Given the description of an element on the screen output the (x, y) to click on. 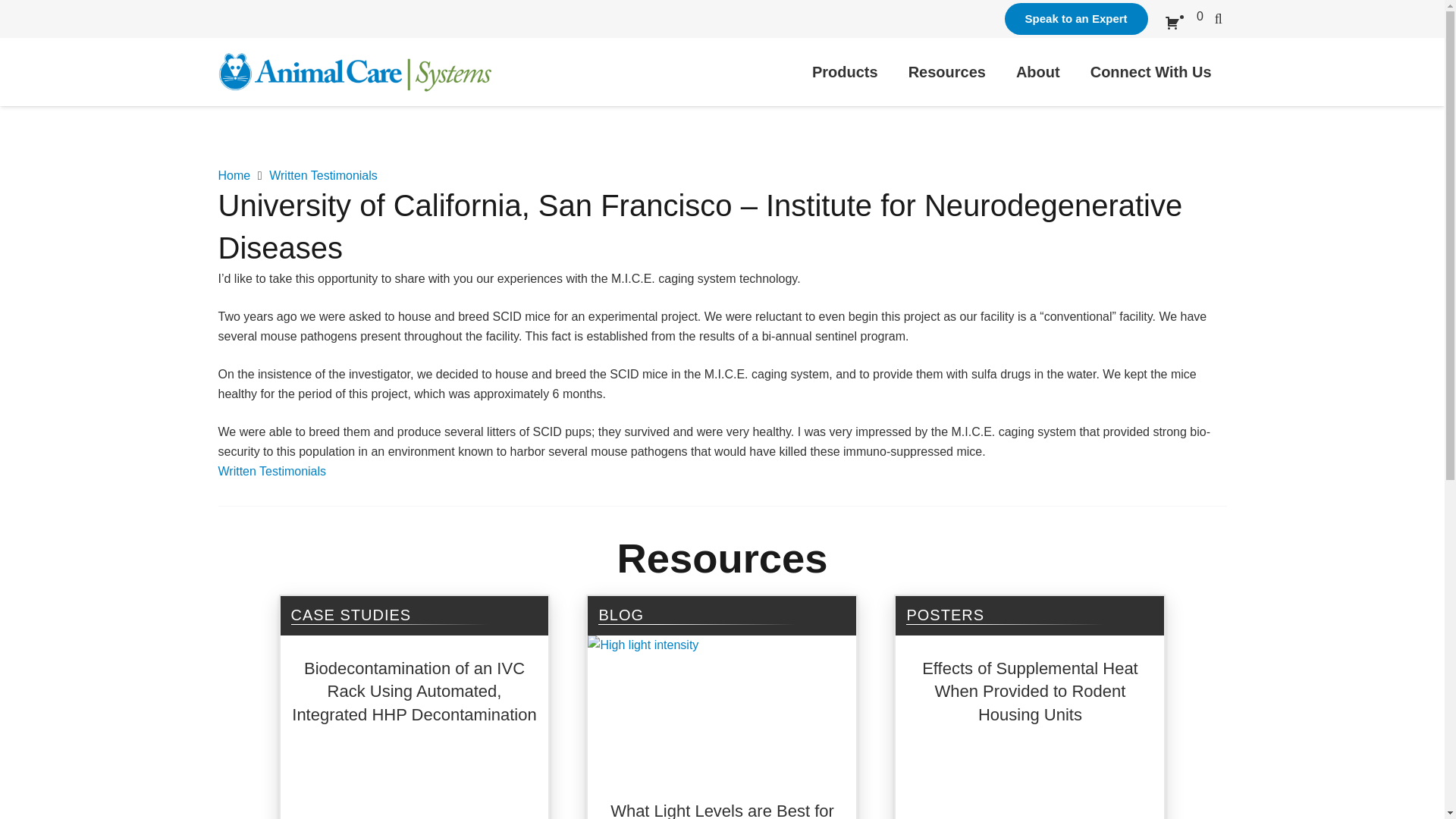
Speak to an Expert (1076, 19)
Connect With Us (1151, 71)
Resources (947, 71)
About (1038, 71)
Products (844, 71)
